Given the description of an element on the screen output the (x, y) to click on. 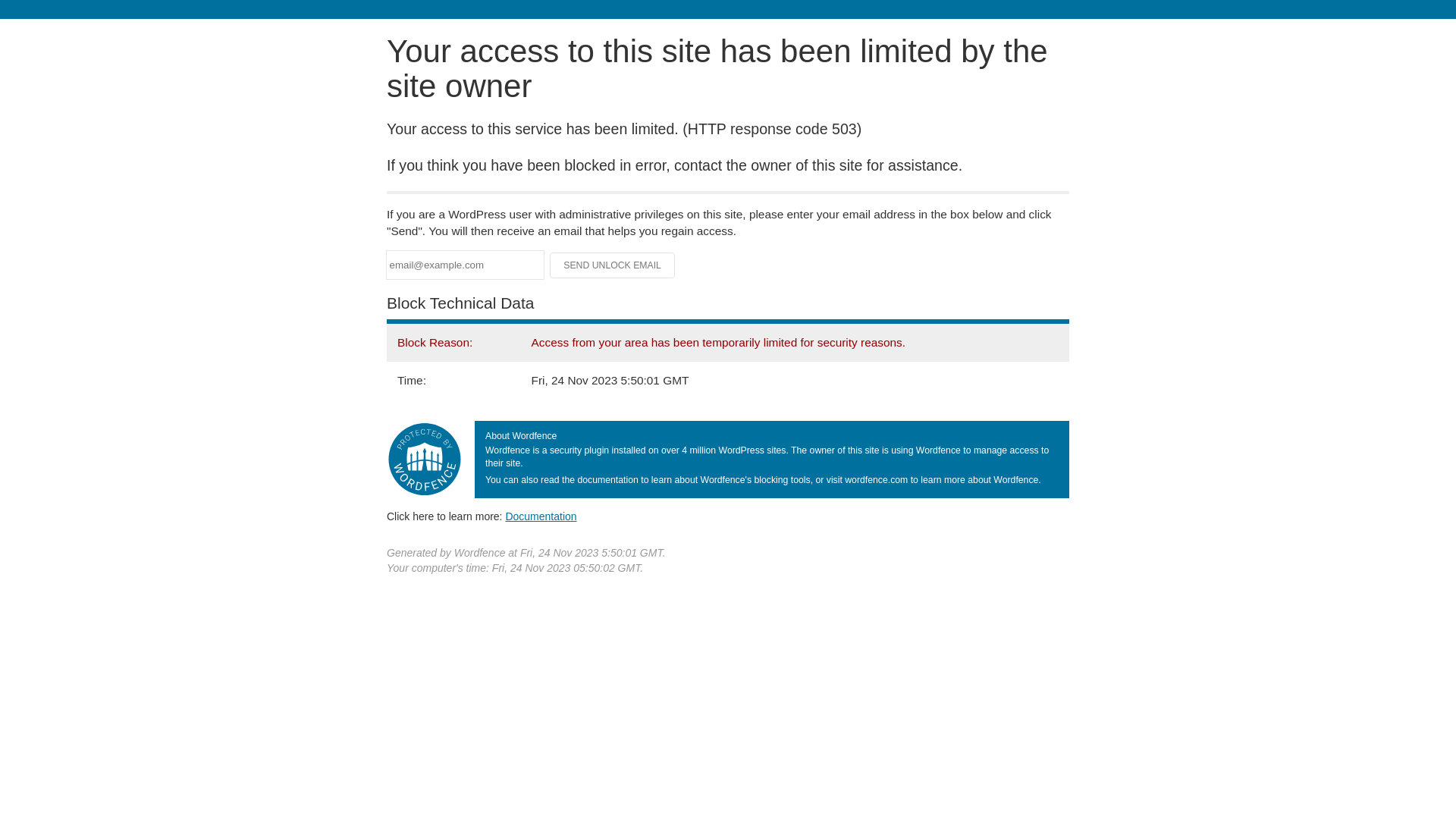
Documentation Element type: text (540, 516)
Send Unlock Email Element type: text (612, 265)
